Given the description of an element on the screen output the (x, y) to click on. 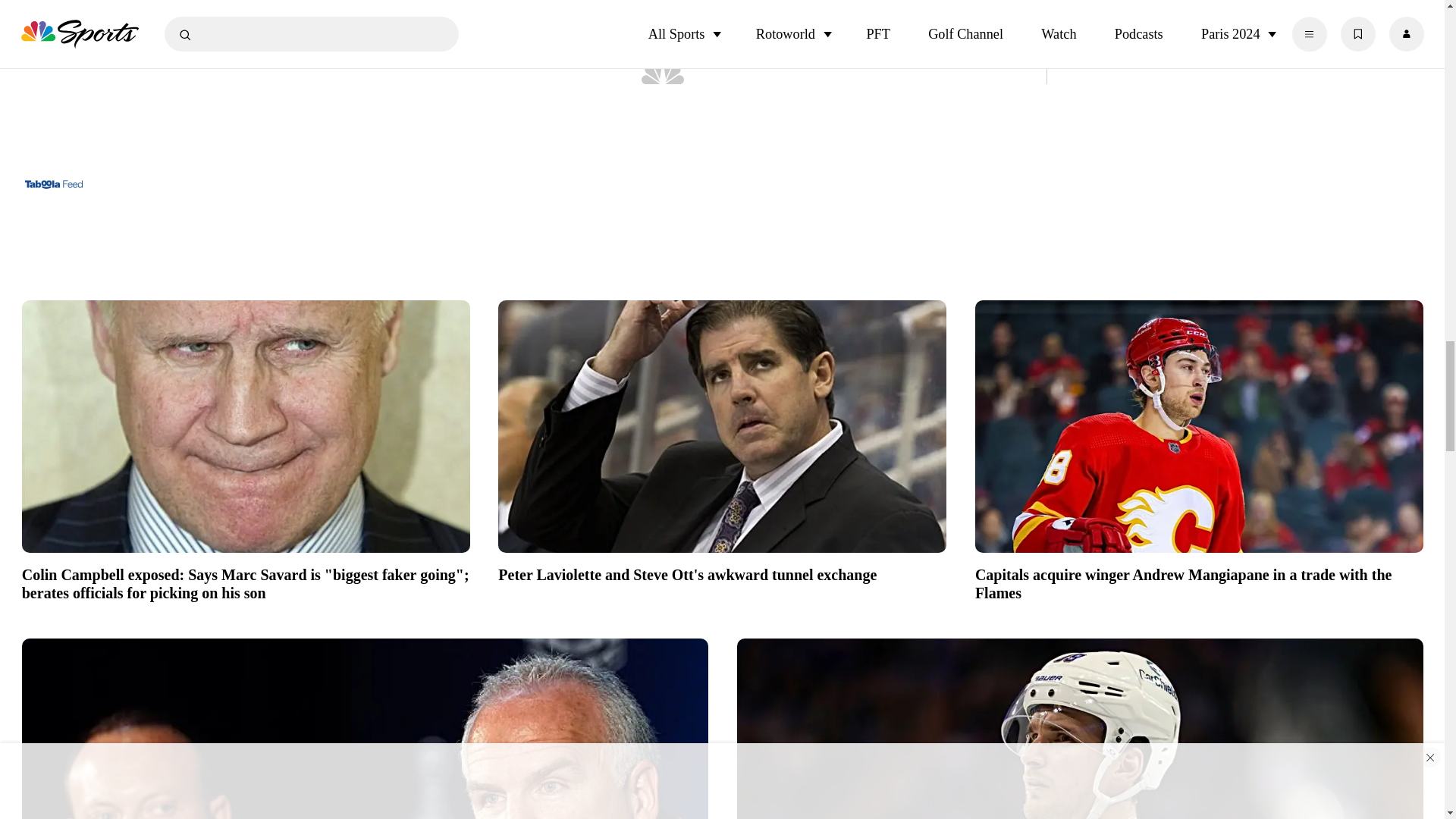
Peter Laviolette and Steve Ott's awkward tunnel exchange (721, 426)
Peter Laviolette and Steve Ott's awkward tunnel exchange (721, 572)
